Given the description of an element on the screen output the (x, y) to click on. 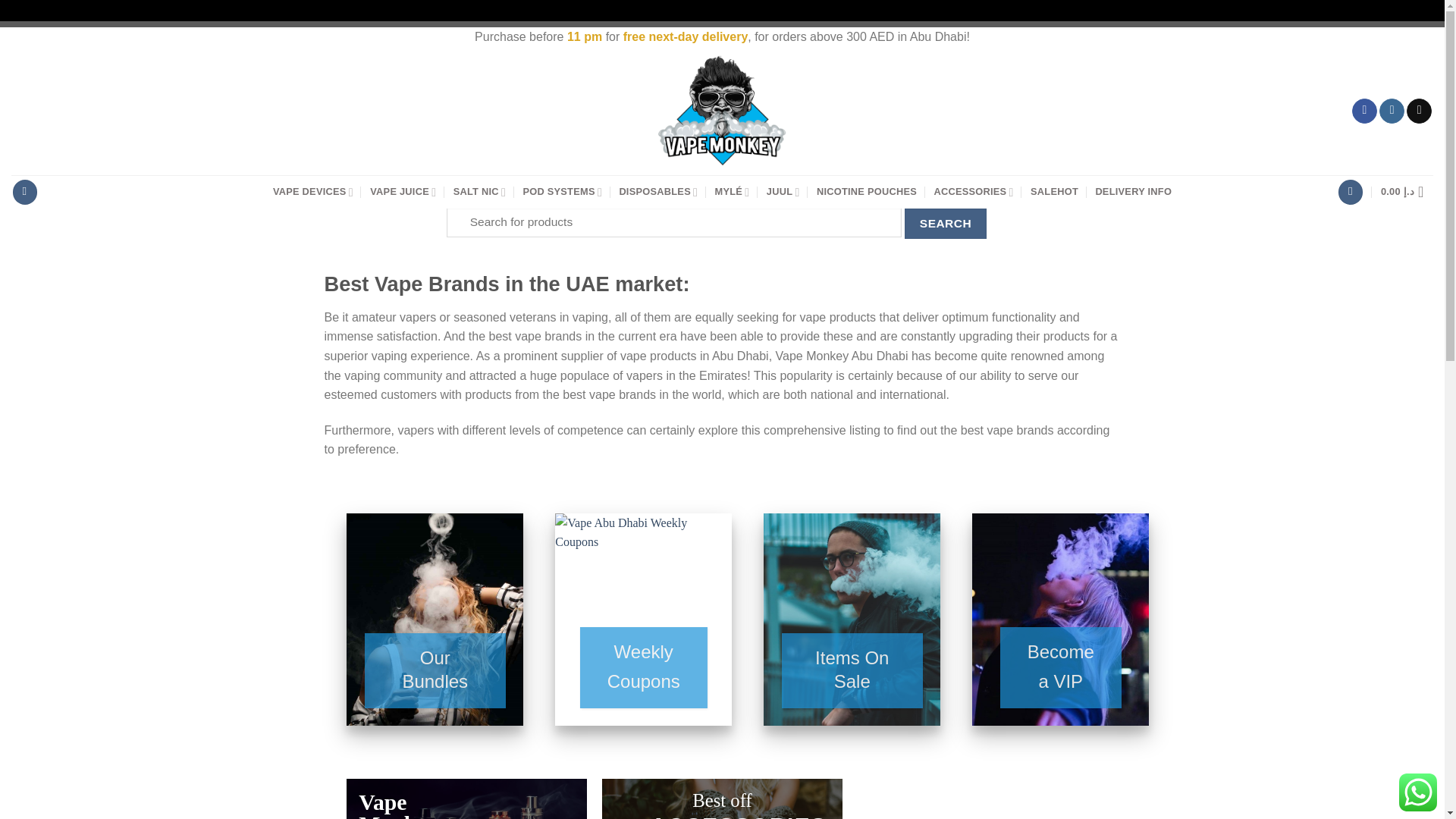
Cart (1406, 191)
Follow on Facebook (1364, 111)
POD SYSTEMS (562, 191)
WhatsApp us (1418, 792)
Vape Monkey Abu Dhabi - The online vape store in Abu Dhabi (721, 110)
Search (945, 223)
VAPE JUICE (402, 191)
Follow on Instagram (1391, 111)
Send us an email (1418, 111)
SALT NIC (478, 191)
VAPE DEVICES (313, 191)
